Given the description of an element on the screen output the (x, y) to click on. 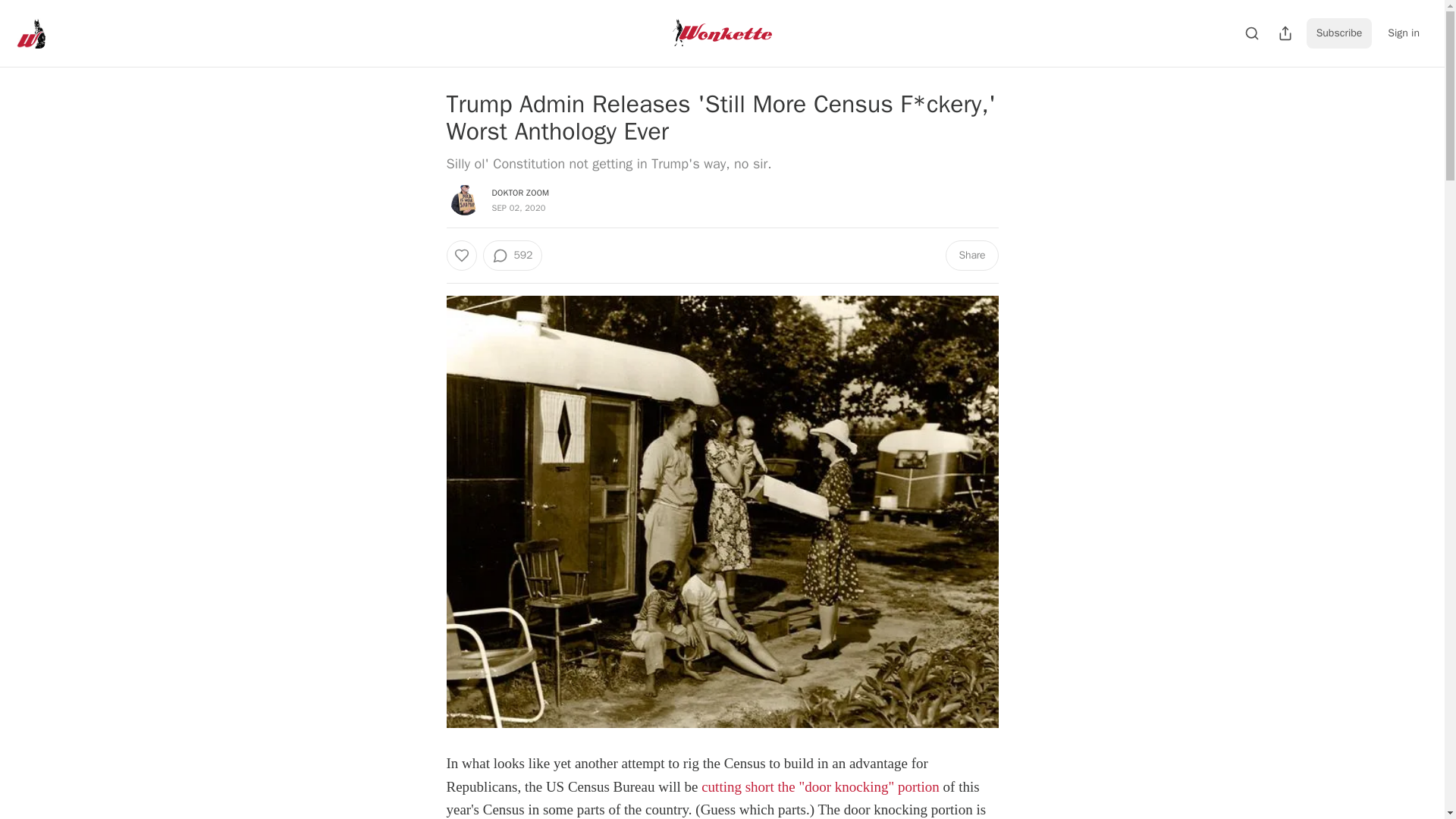
592 (511, 255)
cutting short the "door knocking" portion (820, 786)
Sign in (1403, 33)
DOKTOR ZOOM (520, 192)
Share (970, 255)
Subscribe (1339, 33)
